Given the description of an element on the screen output the (x, y) to click on. 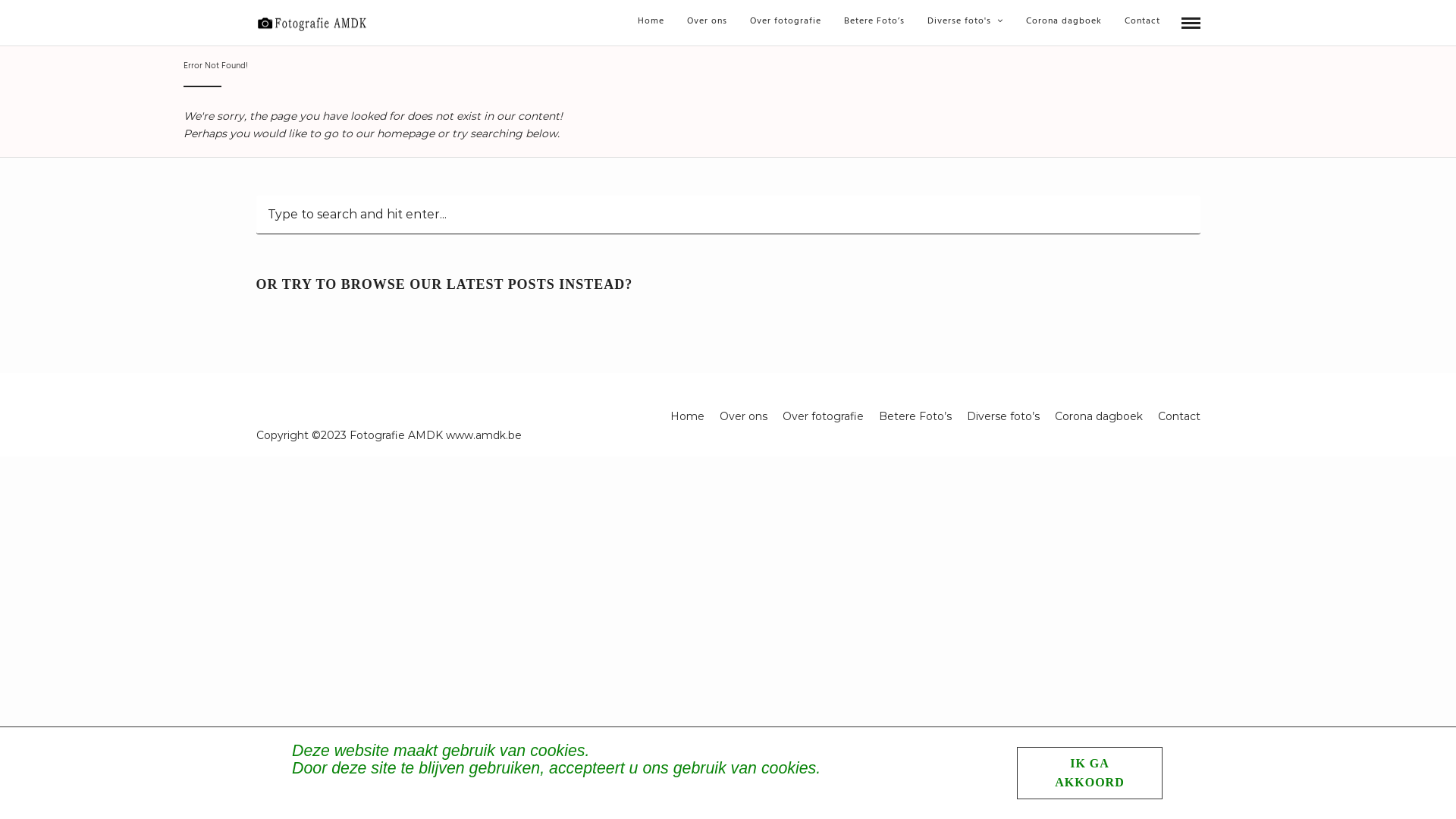
Over fotografie Element type: text (822, 416)
Over ons Element type: text (706, 21)
Diverse foto's Element type: text (965, 21)
www.amdk.be Element type: text (483, 435)
IK GA AKKOORD Element type: text (1089, 772)
Home Element type: text (650, 21)
Home Element type: text (687, 416)
Corona dagboek Element type: text (1098, 416)
Over ons Element type: text (742, 416)
Contact Element type: text (1142, 21)
Over fotografie Element type: text (785, 21)
Corona dagboek Element type: text (1063, 21)
Contact Element type: text (1178, 416)
